Given the description of an element on the screen output the (x, y) to click on. 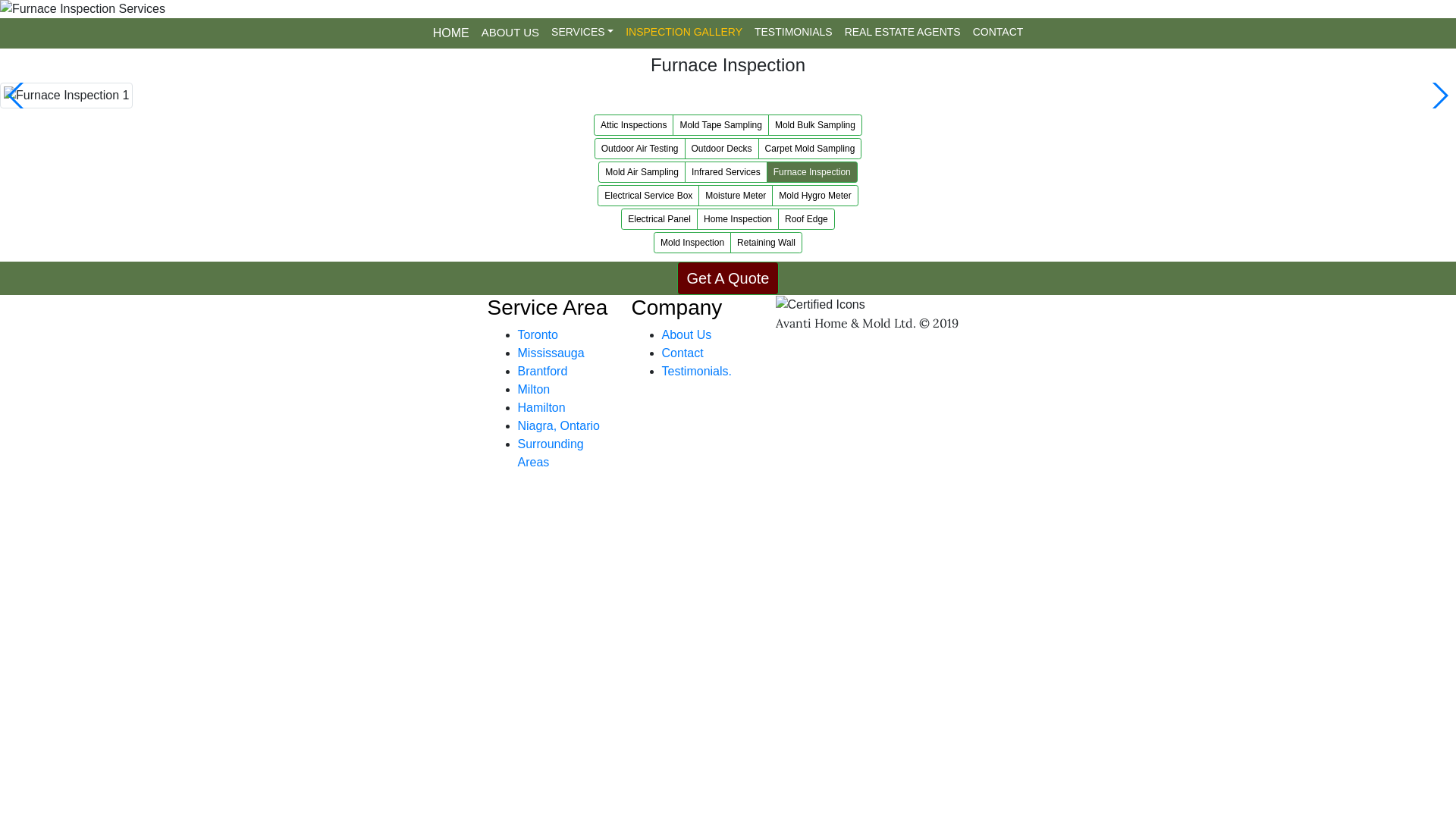
Carpet Mold Sampling Element type: text (810, 148)
Infrared Services Element type: text (725, 171)
Moisture Meter Element type: text (735, 195)
Niagra, Ontario Element type: text (558, 425)
INSPECTION GALLERY Element type: text (683, 32)
Mold Hygro Meter Element type: text (814, 195)
Contact Element type: text (681, 352)
ABOUT US Element type: text (510, 32)
SERVICES Element type: text (582, 32)
Retaining Wall Element type: text (766, 242)
About Us Element type: text (686, 334)
REAL ESTATE AGENTS Element type: text (902, 32)
Brantford Element type: text (542, 370)
Mold Bulk Sampling Element type: text (815, 124)
Toronto Element type: text (537, 334)
Attic Inspections Element type: text (633, 124)
Outdoor Air Testing Element type: text (639, 148)
Mold Inspection Element type: text (692, 242)
Mold Air Sampling Element type: text (641, 171)
Get A Quote Element type: text (728, 277)
TESTIMONIALS Element type: text (793, 32)
Testimonials. Element type: text (696, 370)
Mold Tape Sampling Element type: text (720, 124)
CONTACT Element type: text (997, 32)
Milton Element type: text (533, 388)
Surrounding Areas Element type: text (550, 452)
Hamilton Element type: text (540, 407)
Furnace Inspection Element type: text (811, 171)
HOME Element type: text (450, 33)
Roof Edge Element type: text (806, 218)
Mississauga Element type: text (550, 352)
Outdoor Decks Element type: text (721, 148)
Home Inspection Element type: text (737, 218)
Electrical Service Box Element type: text (648, 195)
Electrical Panel Element type: text (659, 218)
